Given the description of an element on the screen output the (x, y) to click on. 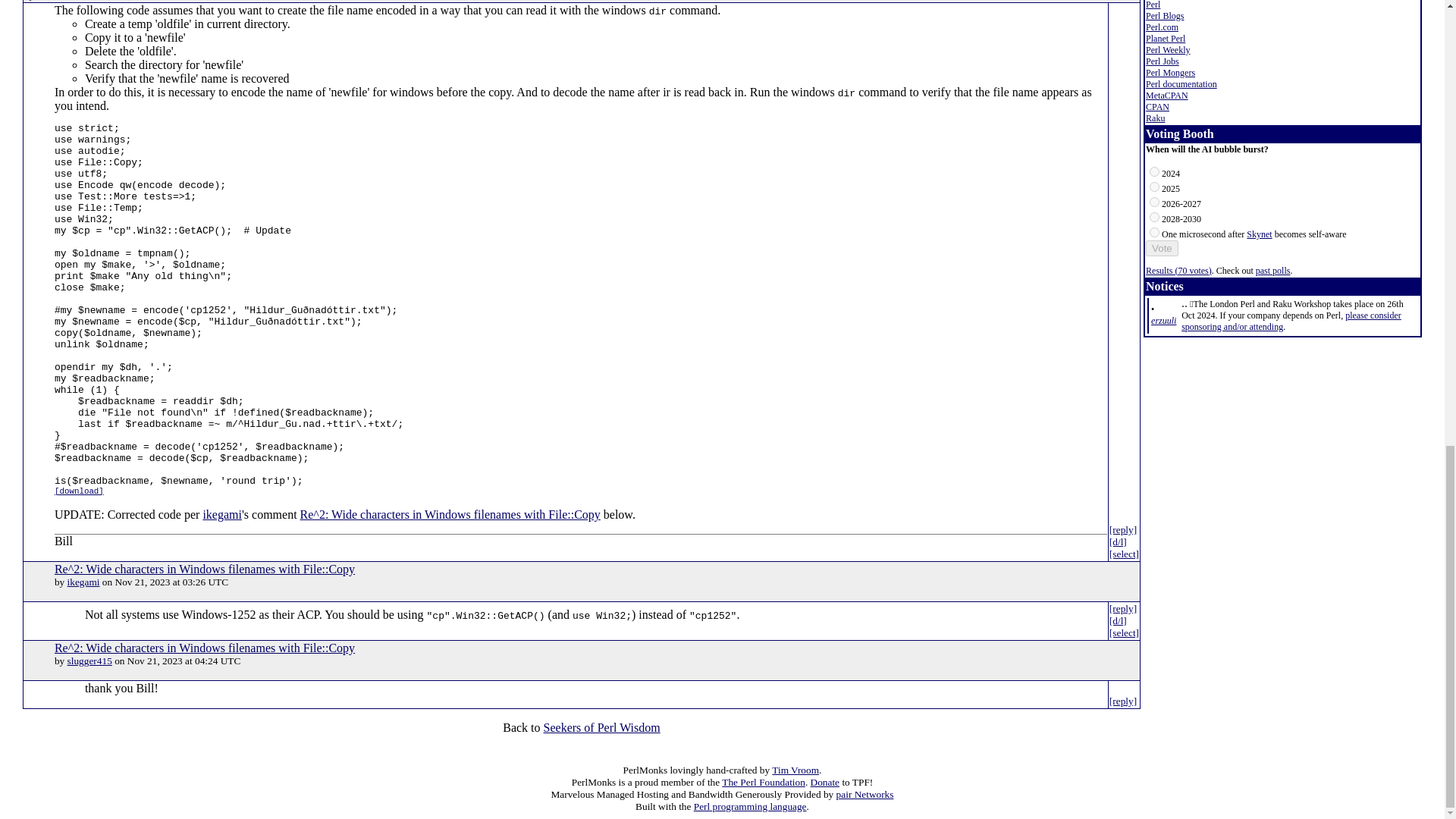
2 (1154, 202)
0 (1154, 171)
2024-05-30 14:23:36 (1163, 320)
1 (1154, 186)
3 (1154, 216)
4 (1154, 232)
Vote (1161, 248)
